Given the description of an element on the screen output the (x, y) to click on. 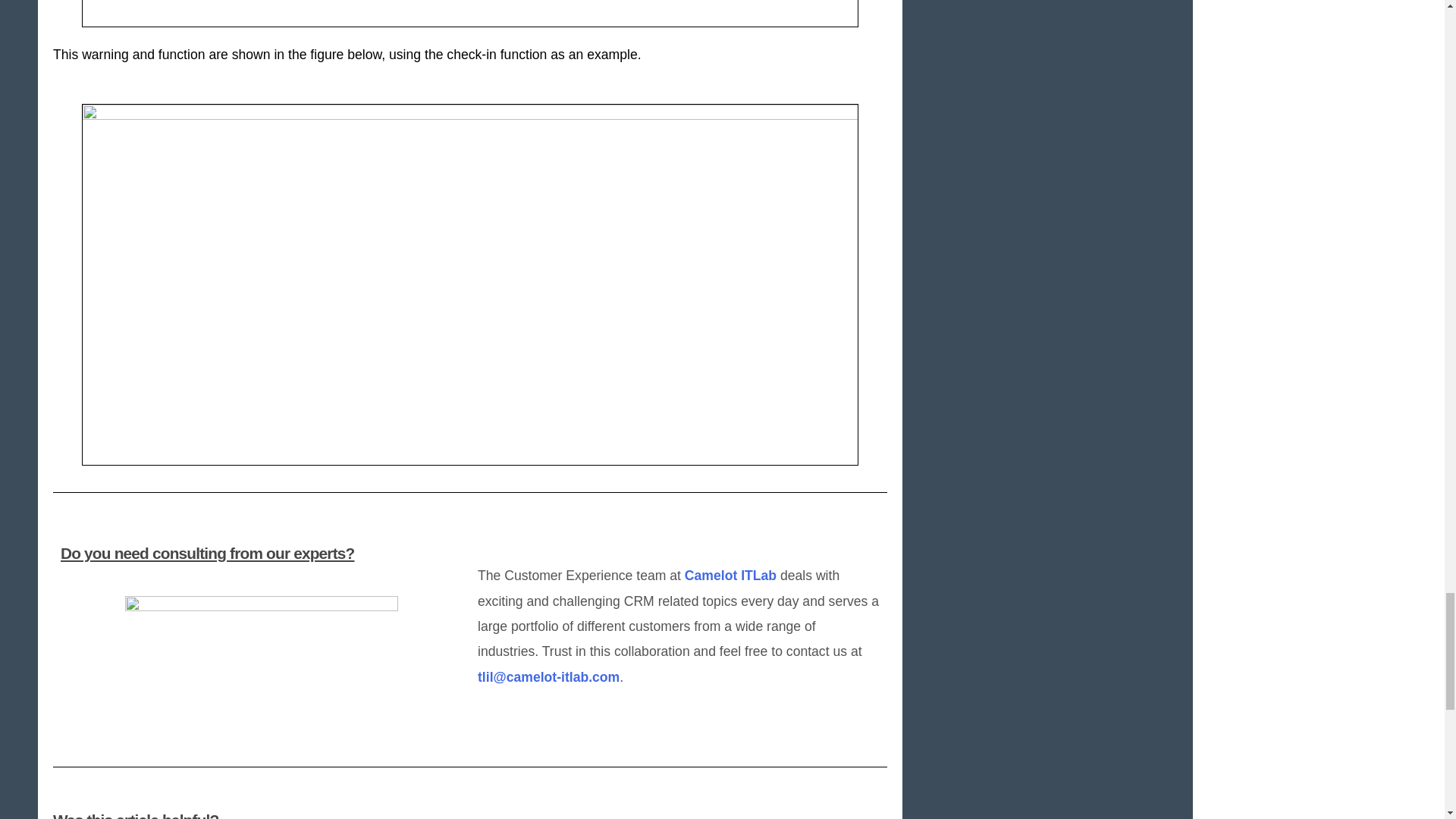
Camelot ITLab (730, 575)
